Given the description of an element on the screen output the (x, y) to click on. 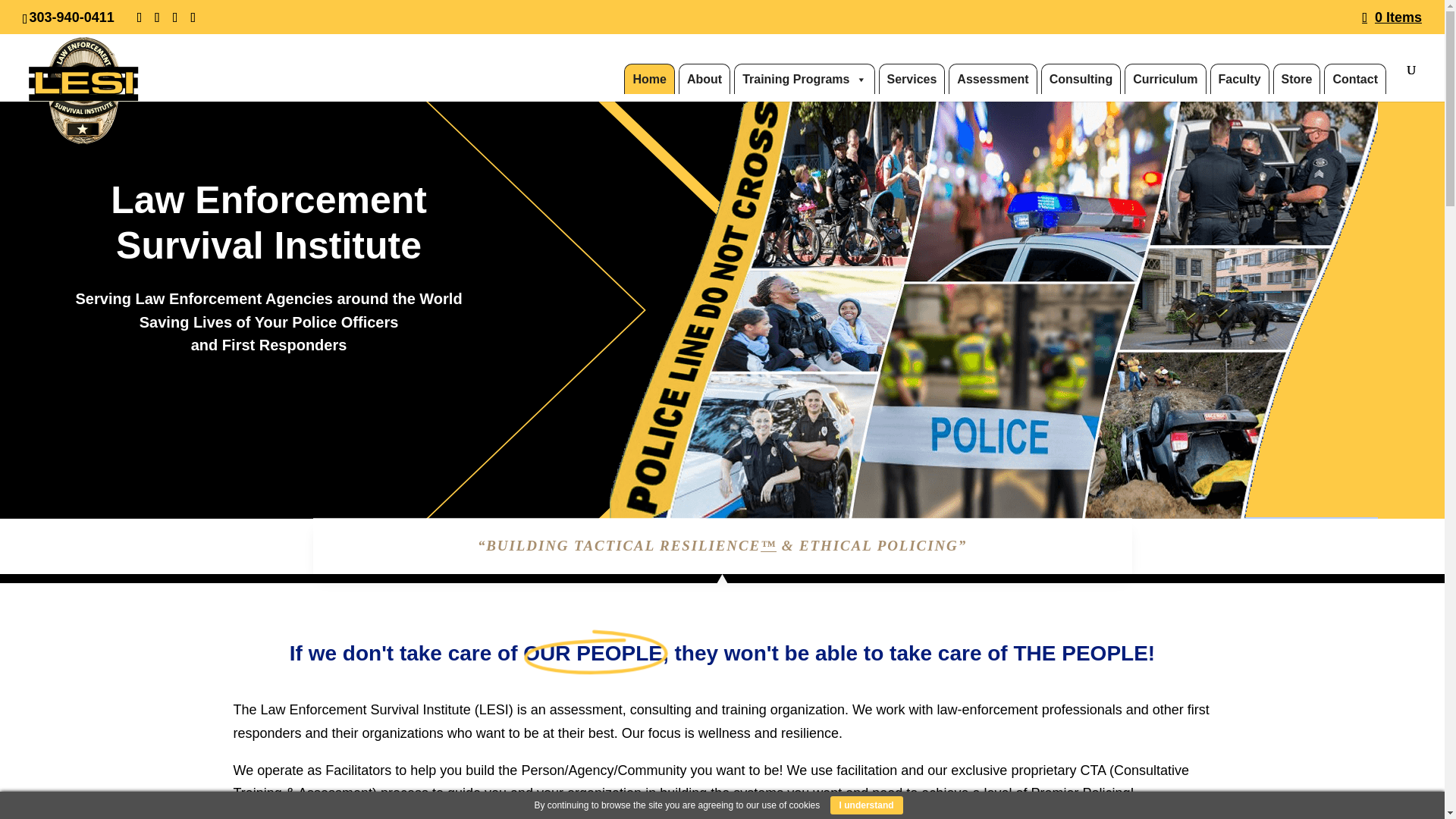
0 Items (1391, 16)
Curriculum (1164, 78)
Contact (1354, 78)
Assessment (992, 78)
Faculty (1239, 78)
Training Programs (804, 78)
Home (649, 78)
Services (910, 78)
Store (1296, 78)
About (704, 78)
Consulting (1081, 78)
